Given the description of an element on the screen output the (x, y) to click on. 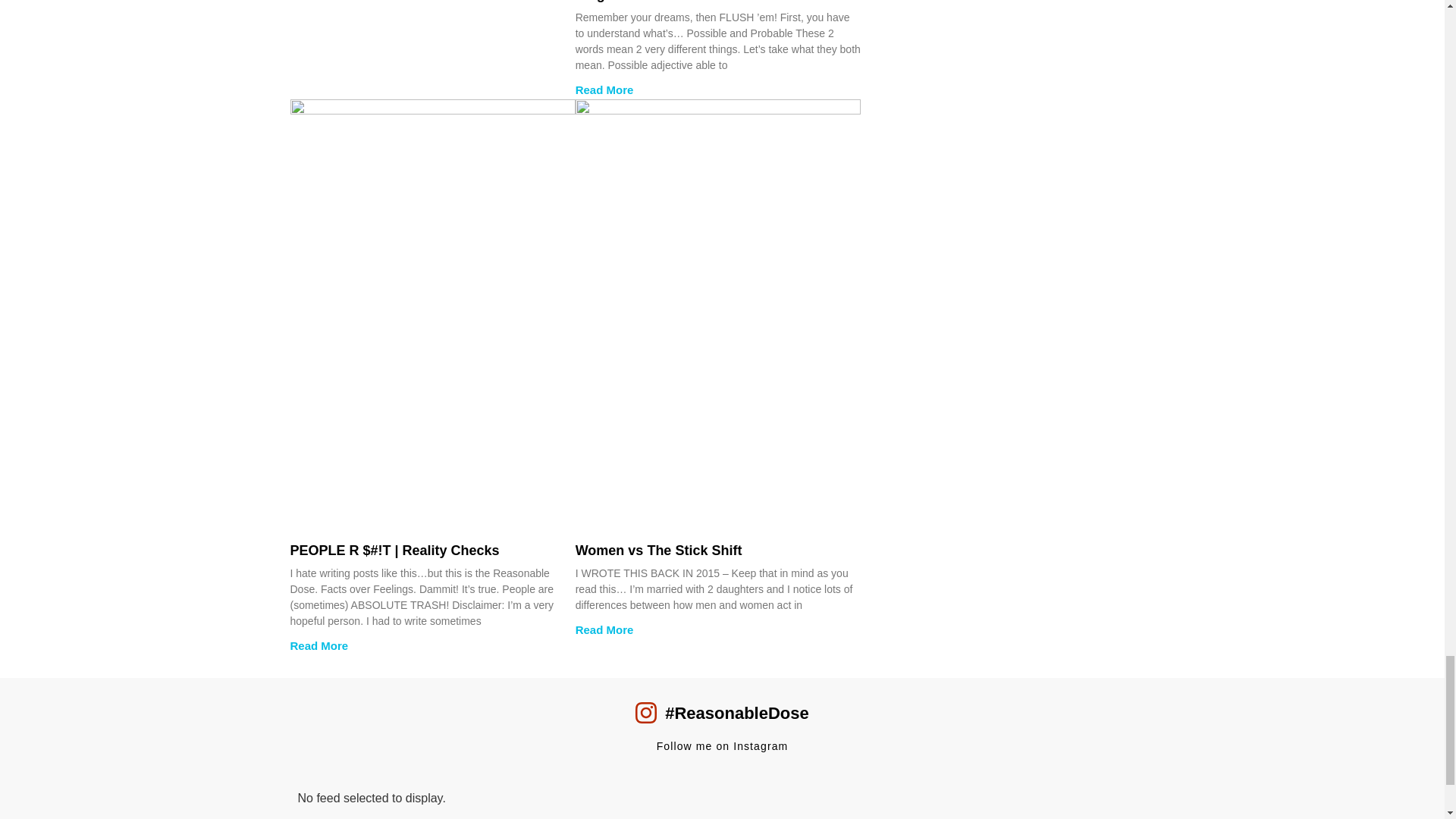
Read More (318, 645)
Read More (604, 89)
